Given the description of an element on the screen output the (x, y) to click on. 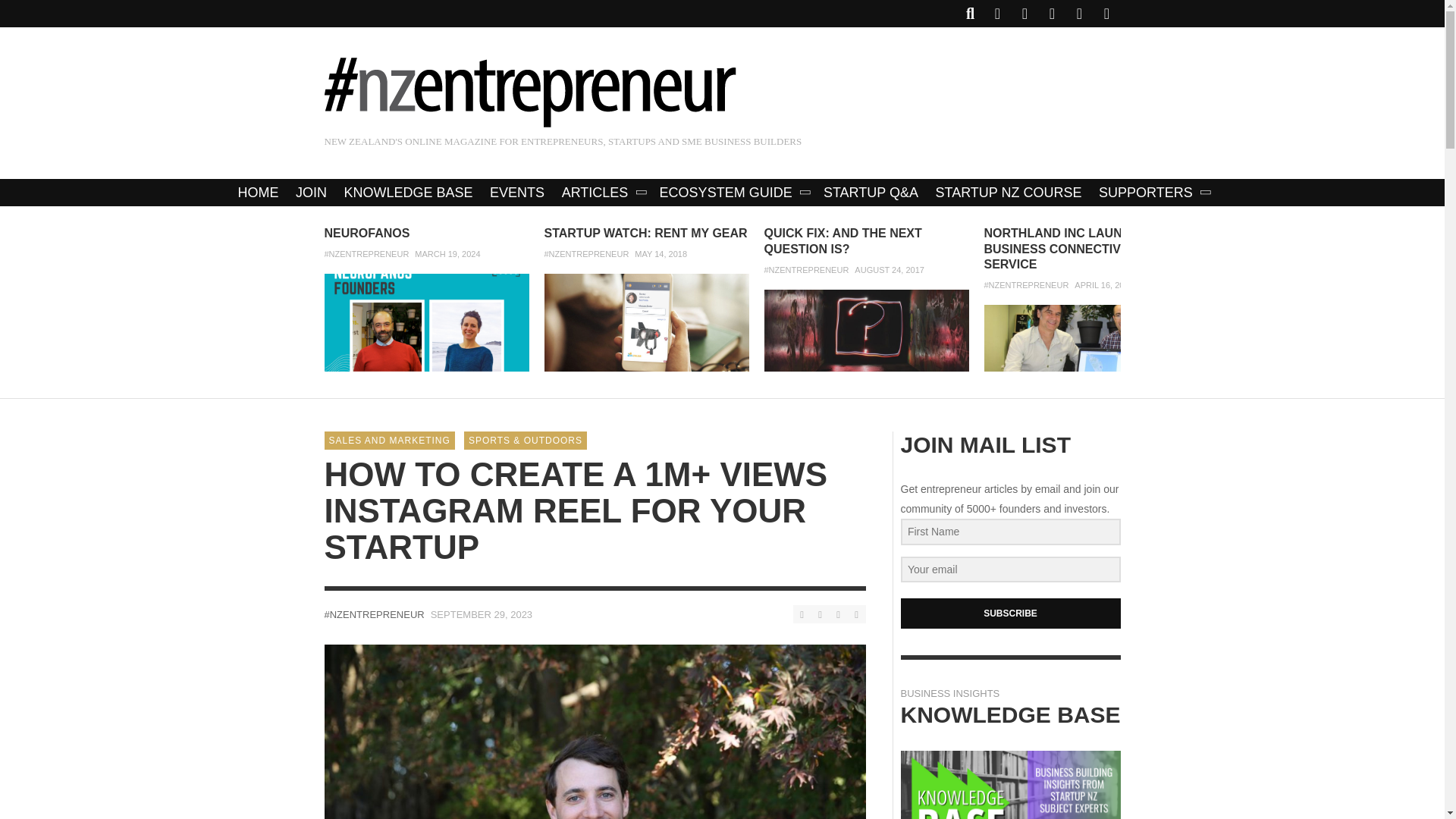
ECOSYSTEM GUIDE (731, 192)
EVENTS (517, 192)
JOIN (311, 192)
HOME (257, 192)
SUPPORTERS (1152, 192)
NEUROFANOS (367, 232)
NORTHLAND INC LAUNCHES NEW BUSINESS CONNECTIVITY SERVICE (1086, 248)
STARTUP WATCH: RENT MY GEAR (646, 232)
ARTICLES (601, 192)
KNOWLEDGE BASE (407, 192)
